Given the description of an element on the screen output the (x, y) to click on. 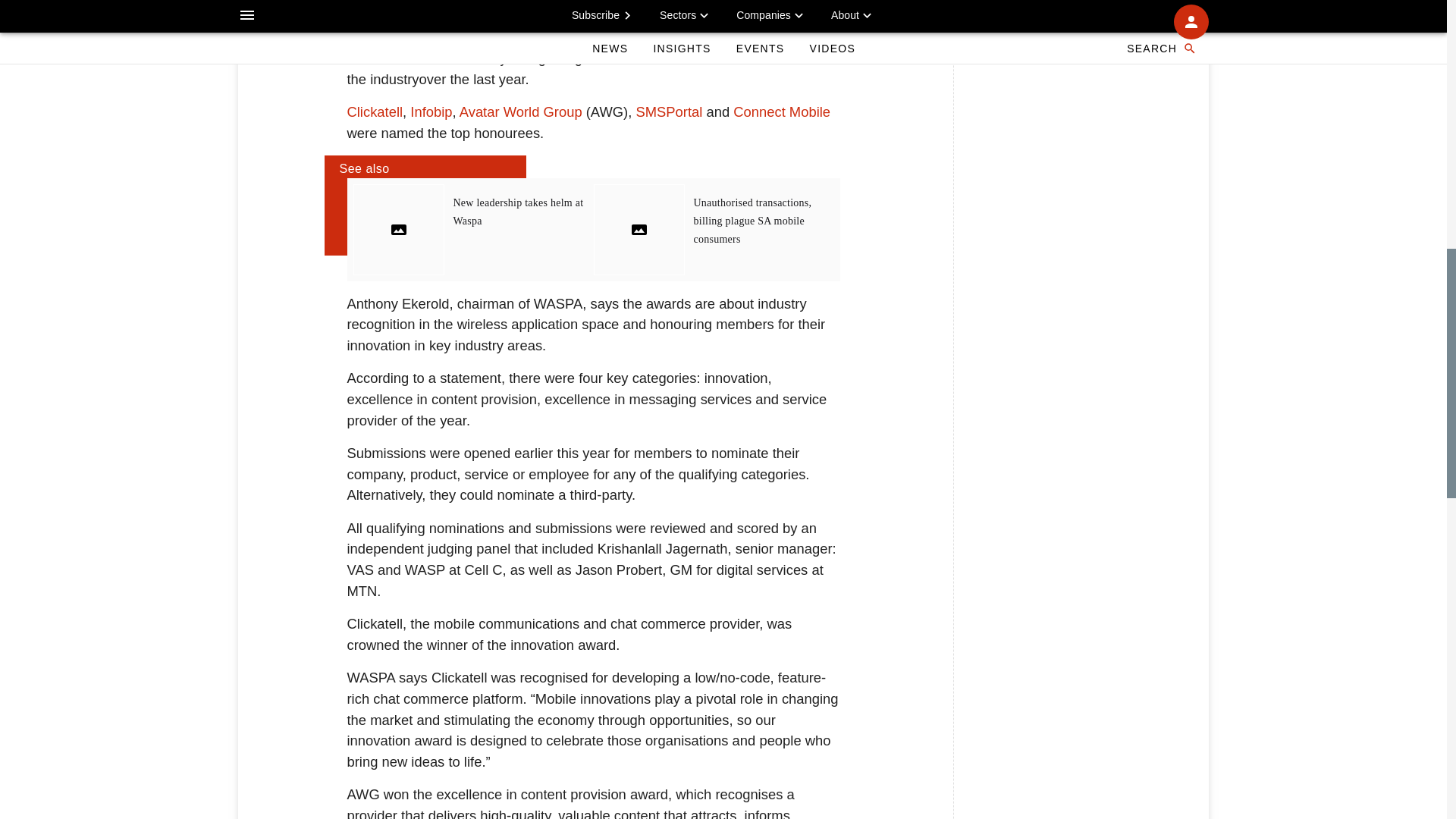
Connect Mobile (781, 111)
Infobip (430, 111)
Clickatell (375, 111)
New leadership takes helm at Waspa (517, 211)
Avatar World Group (521, 111)
SMSPortal (667, 111)
